Given the description of an element on the screen output the (x, y) to click on. 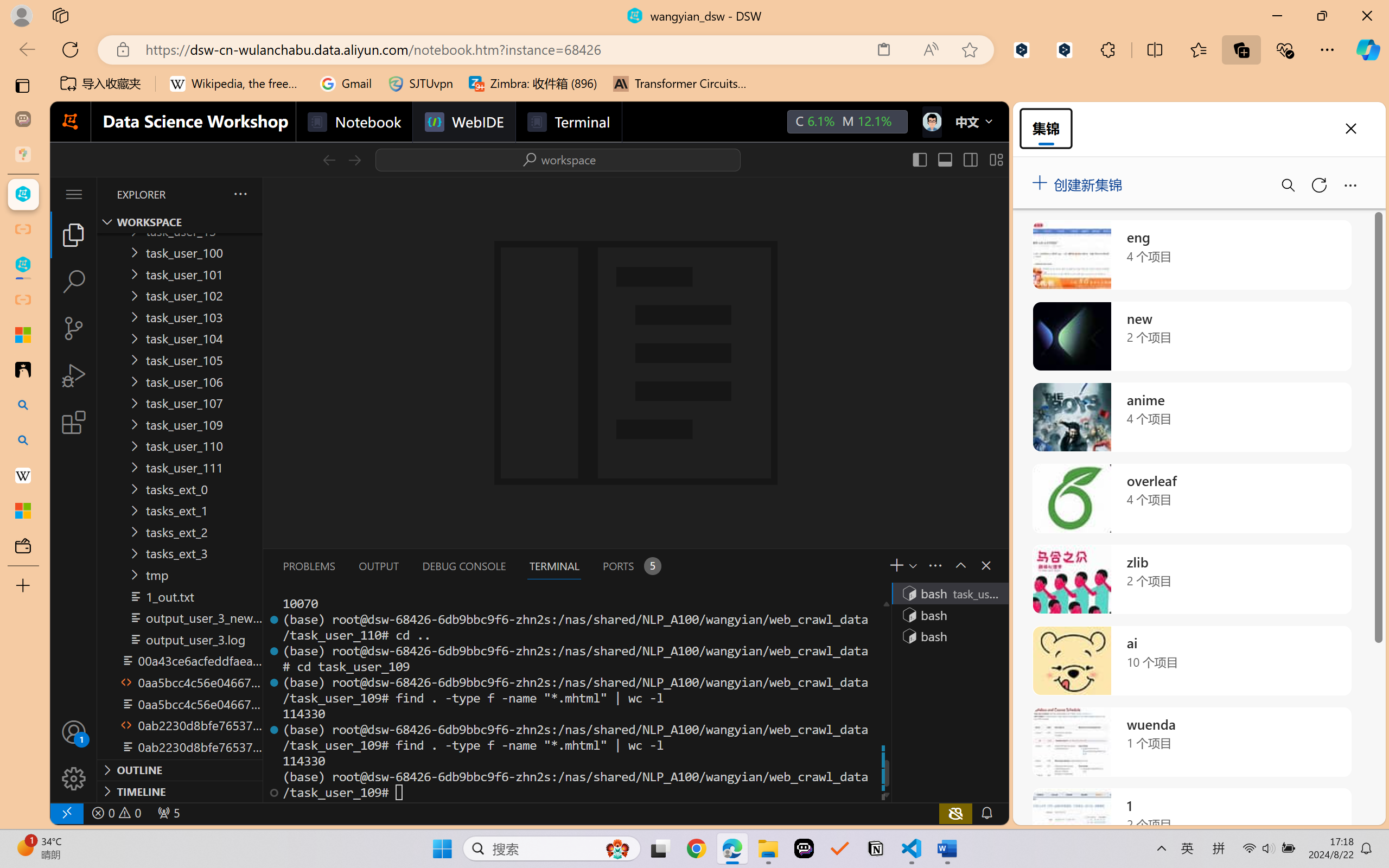
Maximize Panel Size (959, 565)
Manage (73, 778)
icon (930, 121)
